Given the description of an element on the screen output the (x, y) to click on. 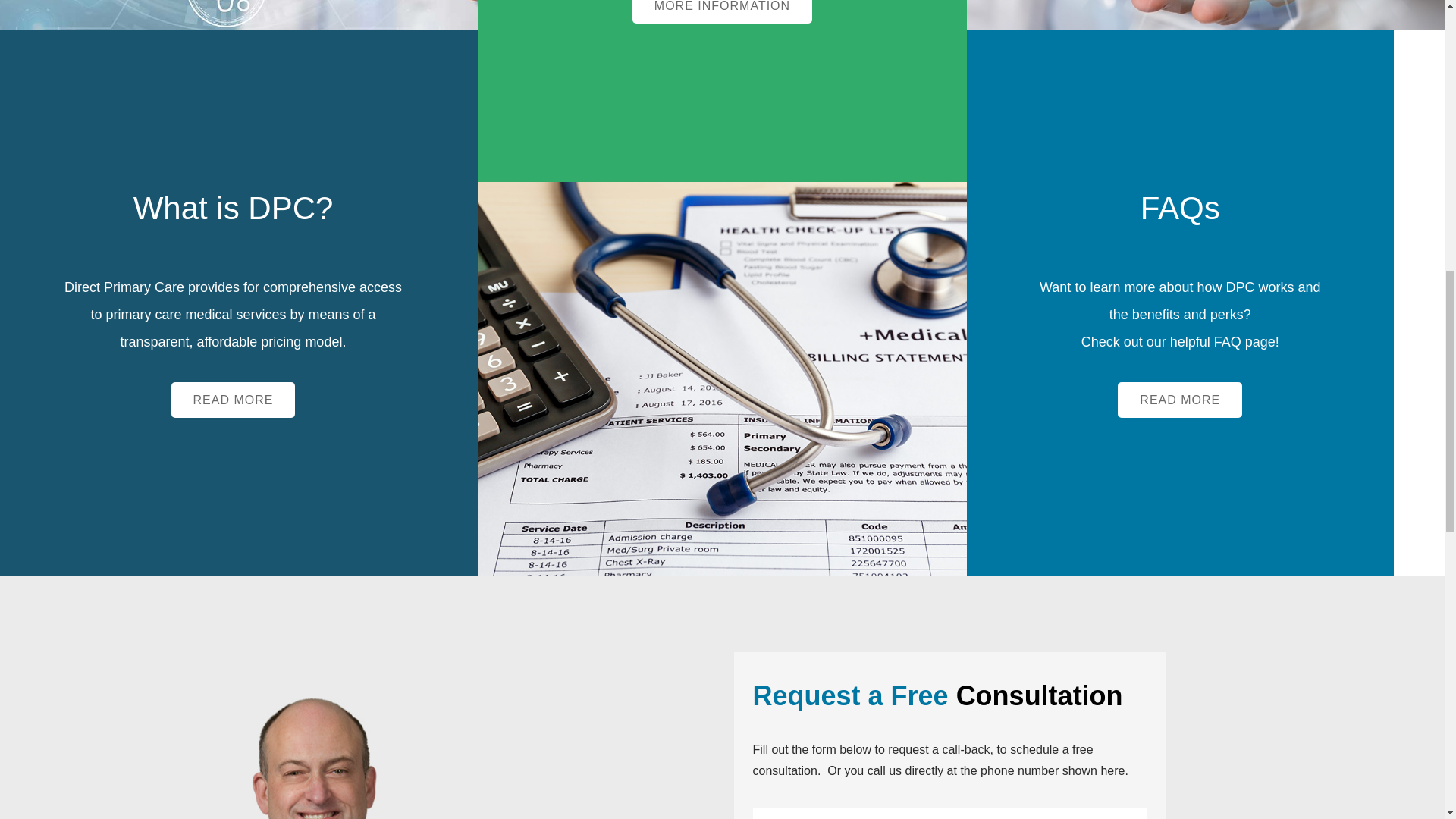
MORE INFORMATION (721, 11)
READ MORE (1179, 399)
READ MORE (233, 399)
